Given the description of an element on the screen output the (x, y) to click on. 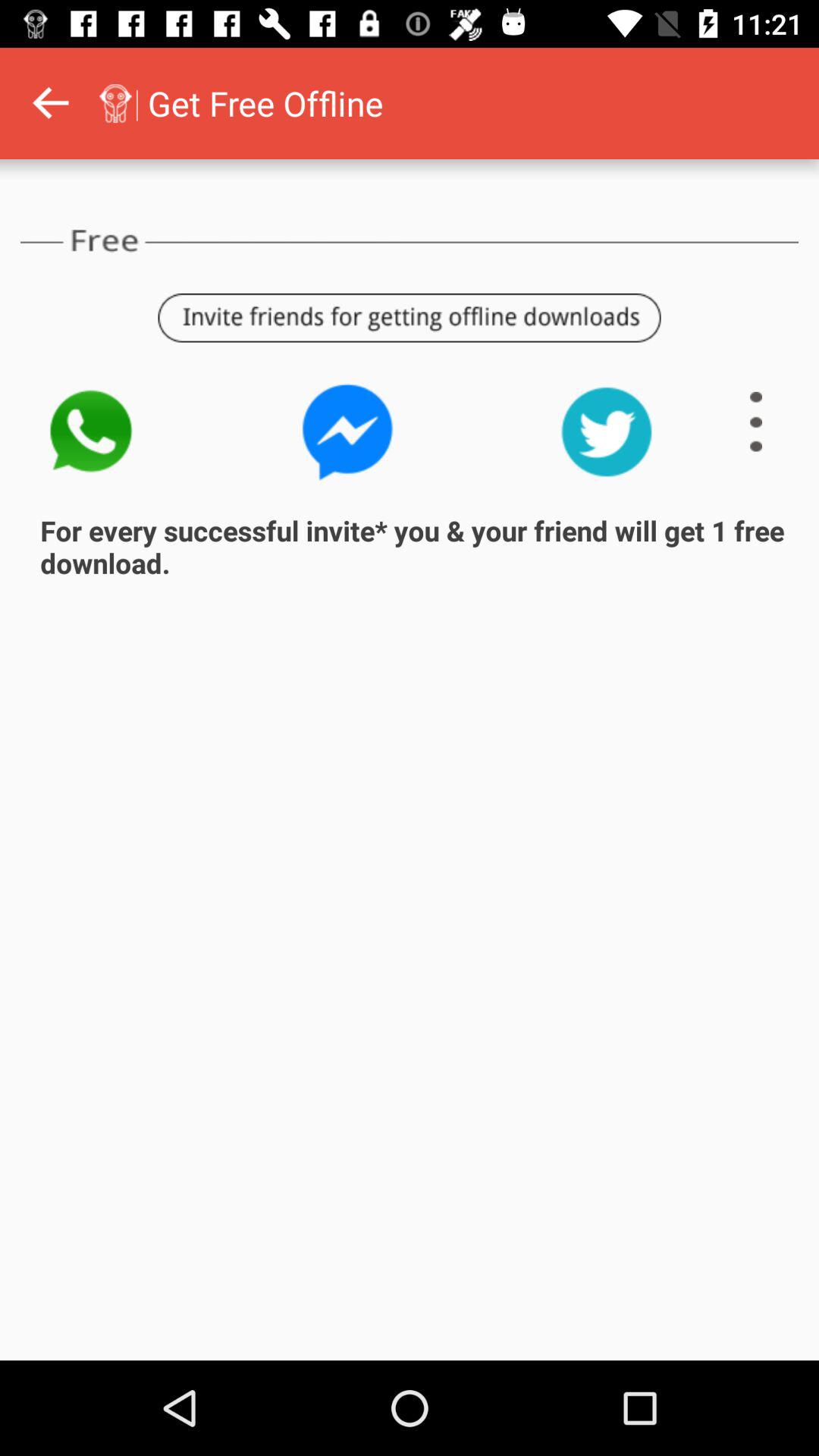
see more options (756, 421)
